Given the description of an element on the screen output the (x, y) to click on. 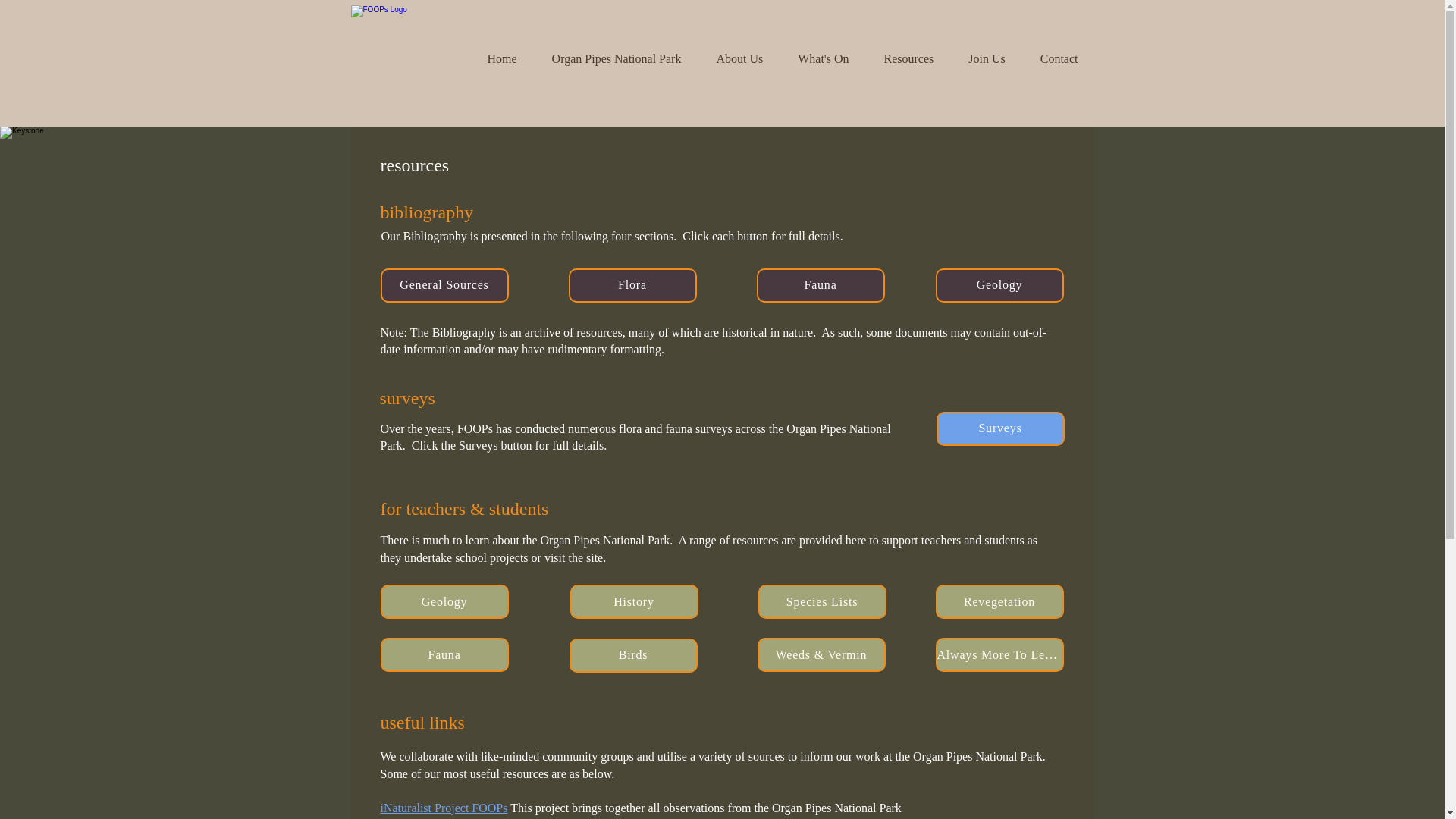
What's On (822, 58)
History (634, 601)
Always More To Learn (1000, 654)
Birds (633, 655)
Organ Pipes National Park (616, 58)
Resources (908, 58)
Geology (444, 601)
Surveys (1000, 428)
Flora (633, 285)
General Sources (444, 285)
Contact (1059, 58)
Home (501, 58)
Fauna (444, 654)
Revegetation (1000, 601)
Join Us (986, 58)
